Given the description of an element on the screen output the (x, y) to click on. 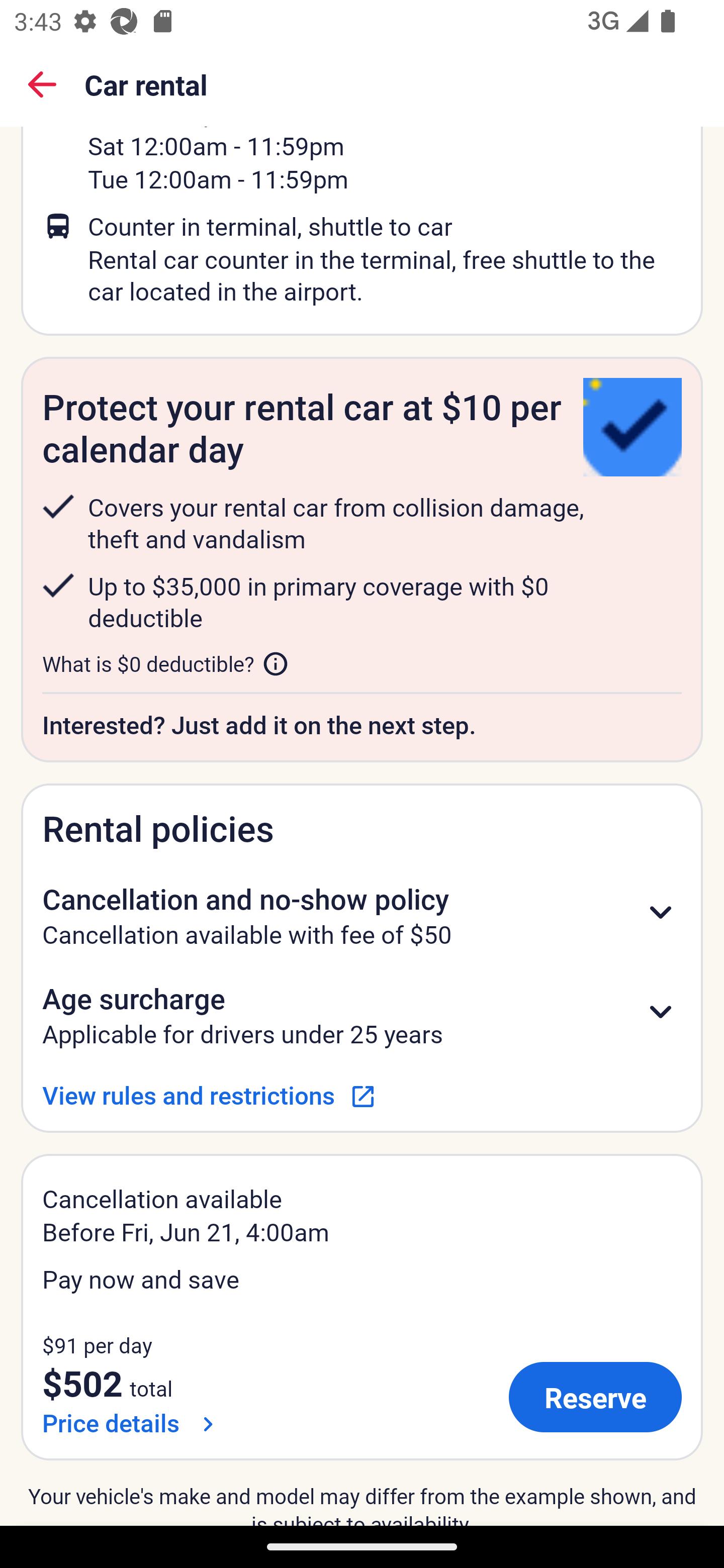
Go back to car rental search results (42, 84)
What is $0 deductible? (165, 662)
Reserve (595, 1396)
Price details Price details Link (131, 1421)
